Given the description of an element on the screen output the (x, y) to click on. 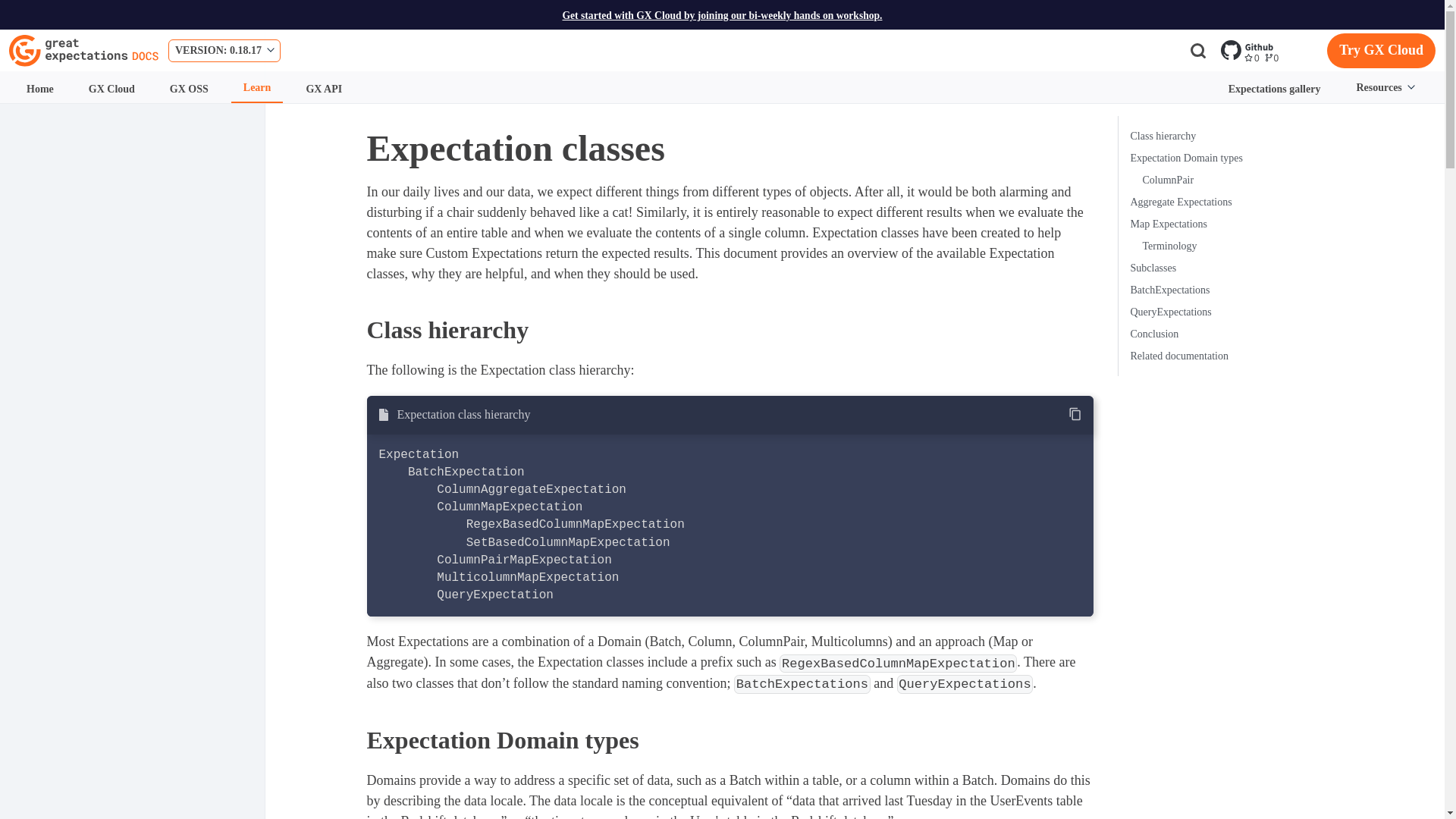
0.18.17 (225, 50)
Home (39, 89)
Copy (1075, 413)
GX Cloud (112, 89)
GX API (323, 89)
Try GX Cloud (1380, 50)
Learn (257, 88)
Expectations gallery (1274, 89)
GX OSS (1272, 50)
Resources (189, 89)
